Given the description of an element on the screen output the (x, y) to click on. 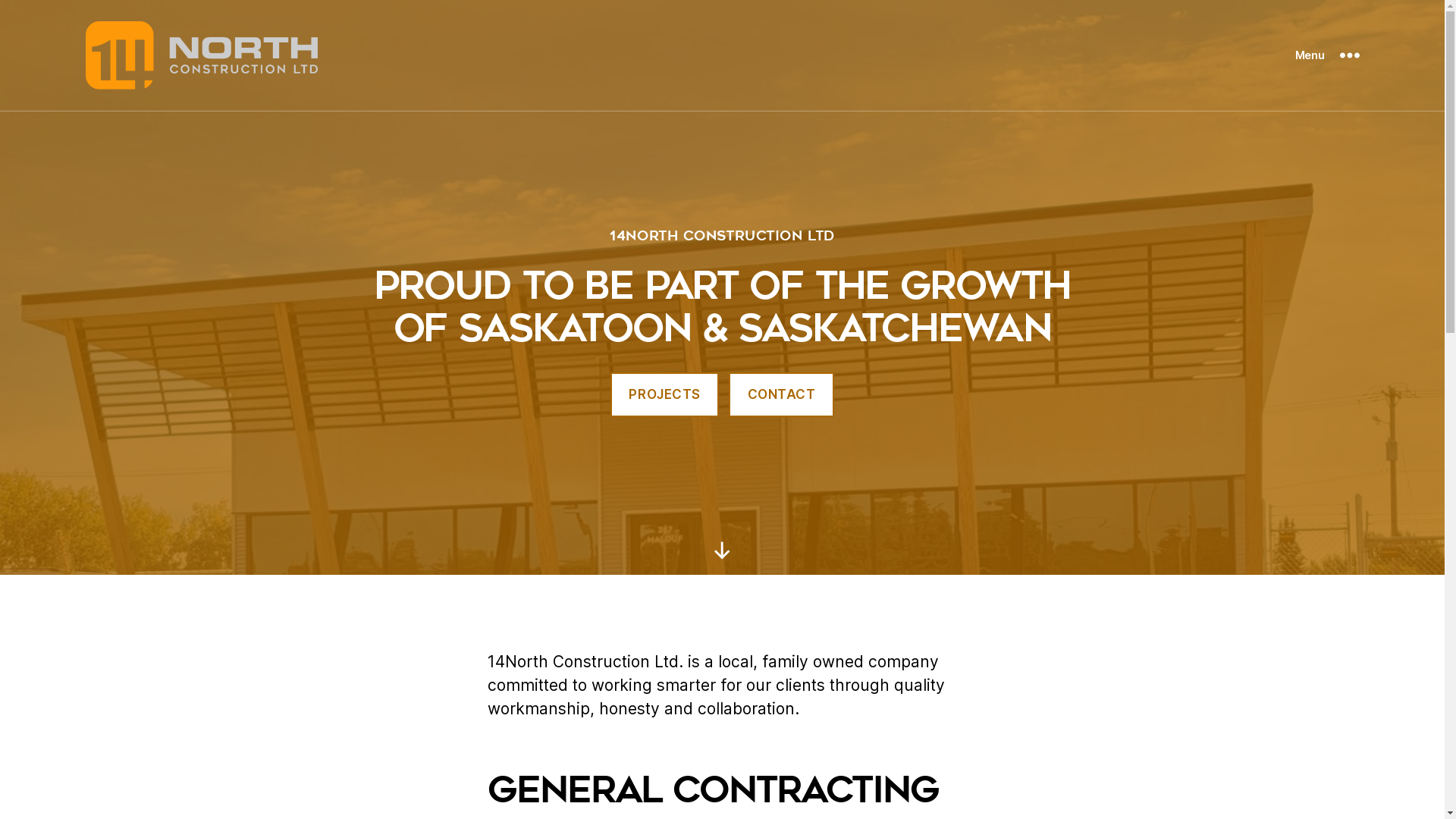
Menu Element type: text (1327, 55)
PROJECTS Element type: text (664, 394)
CONTACT Element type: text (781, 394)
Scroll Down Element type: text (722, 550)
